Given the description of an element on the screen output the (x, y) to click on. 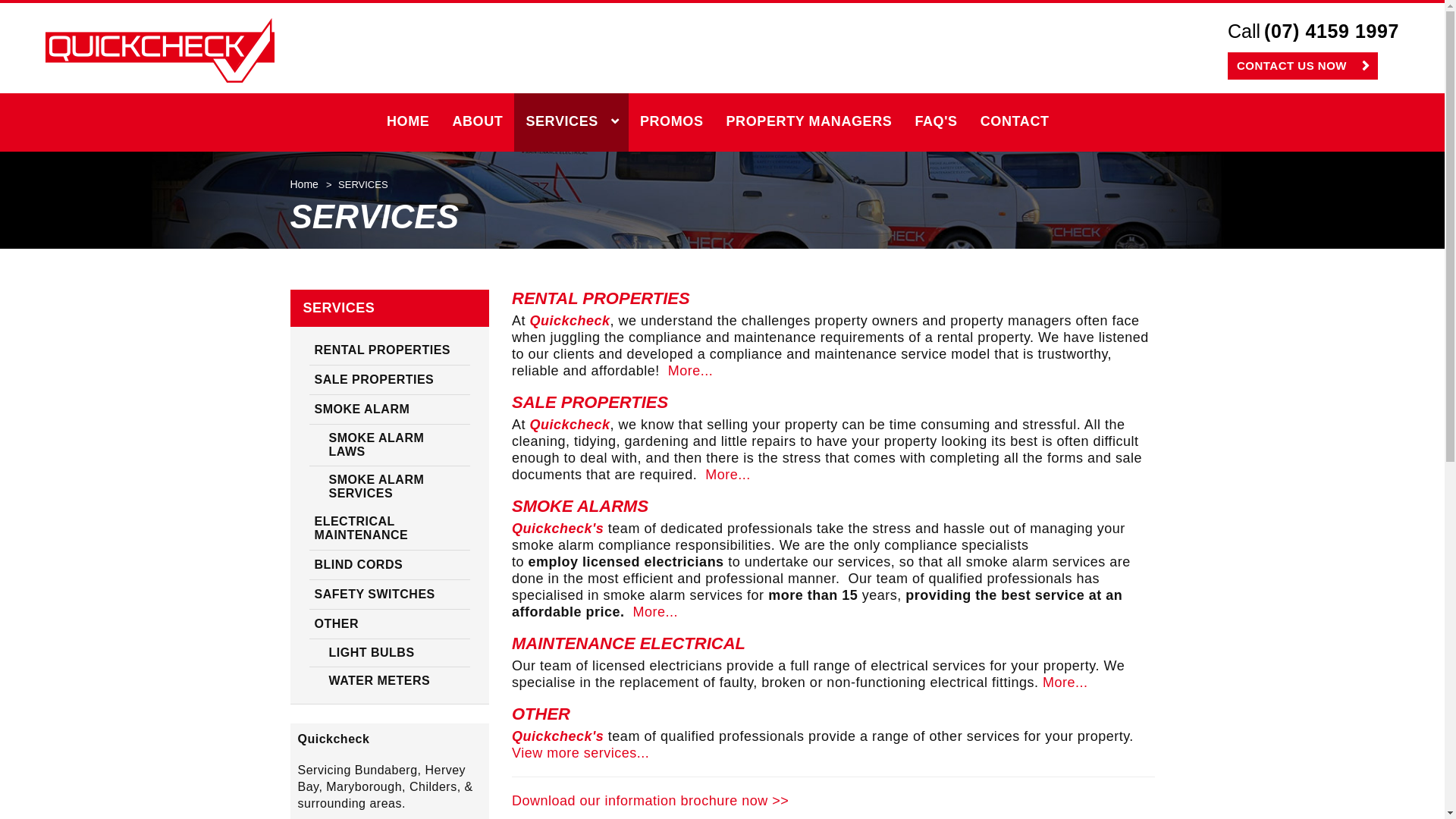
View more services... Element type: text (580, 752)
RENTAL PROPERTIES Element type: text (389, 350)
PROMOS Element type: text (671, 122)
More... Element type: text (690, 370)
WATER METERS Element type: text (389, 680)
SMOKE ALARM SERVICES Element type: text (389, 486)
LIGHT BULBS Element type: text (389, 653)
More... Element type: text (727, 474)
CONTACT US NOW Element type: text (1302, 65)
SMOKE ALARM LAWS Element type: text (389, 445)
OTHER Element type: text (389, 624)
Home Element type: text (303, 184)
CONTACT Element type: text (1014, 122)
HOME Element type: text (407, 122)
(07) 4159 1997 Element type: text (1331, 31)
Download our information brochure now >> Element type: text (649, 800)
SALE PROPERTIES Element type: text (389, 380)
SERVICES Element type: text (389, 307)
SAFETY SWITCHES Element type: text (389, 594)
FAQ'S Element type: text (935, 122)
More... Element type: text (1065, 682)
ABOUT Element type: text (477, 122)
SMOKE ALARM Element type: text (389, 409)
SERVICES Element type: text (571, 122)
BLIND CORDS Element type: text (389, 565)
ELECTRICAL MAINTENANCE Element type: text (389, 528)
Quickcheck Element type: hover (159, 50)
More... Element type: text (655, 611)
PROPERTY MANAGERS Element type: text (809, 122)
